Given the description of an element on the screen output the (x, y) to click on. 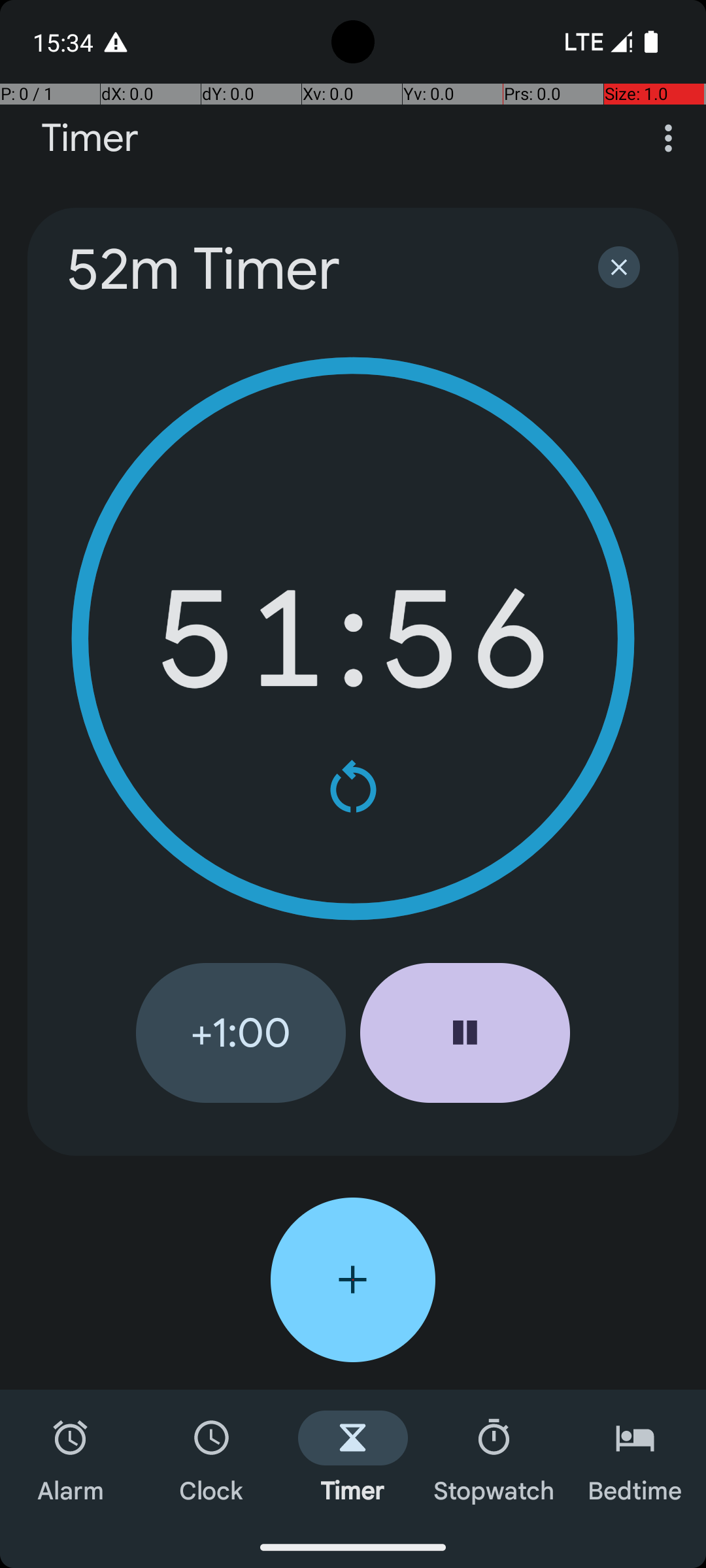
Add timer Element type: android.widget.Button (352, 1279)
52m Timer Element type: android.widget.TextView (315, 269)
51:56 Element type: android.widget.TextView (352, 638)
+1:00 Element type: android.widget.Button (240, 1032)
Pause Element type: android.widget.Button (465, 1032)
